Given the description of an element on the screen output the (x, y) to click on. 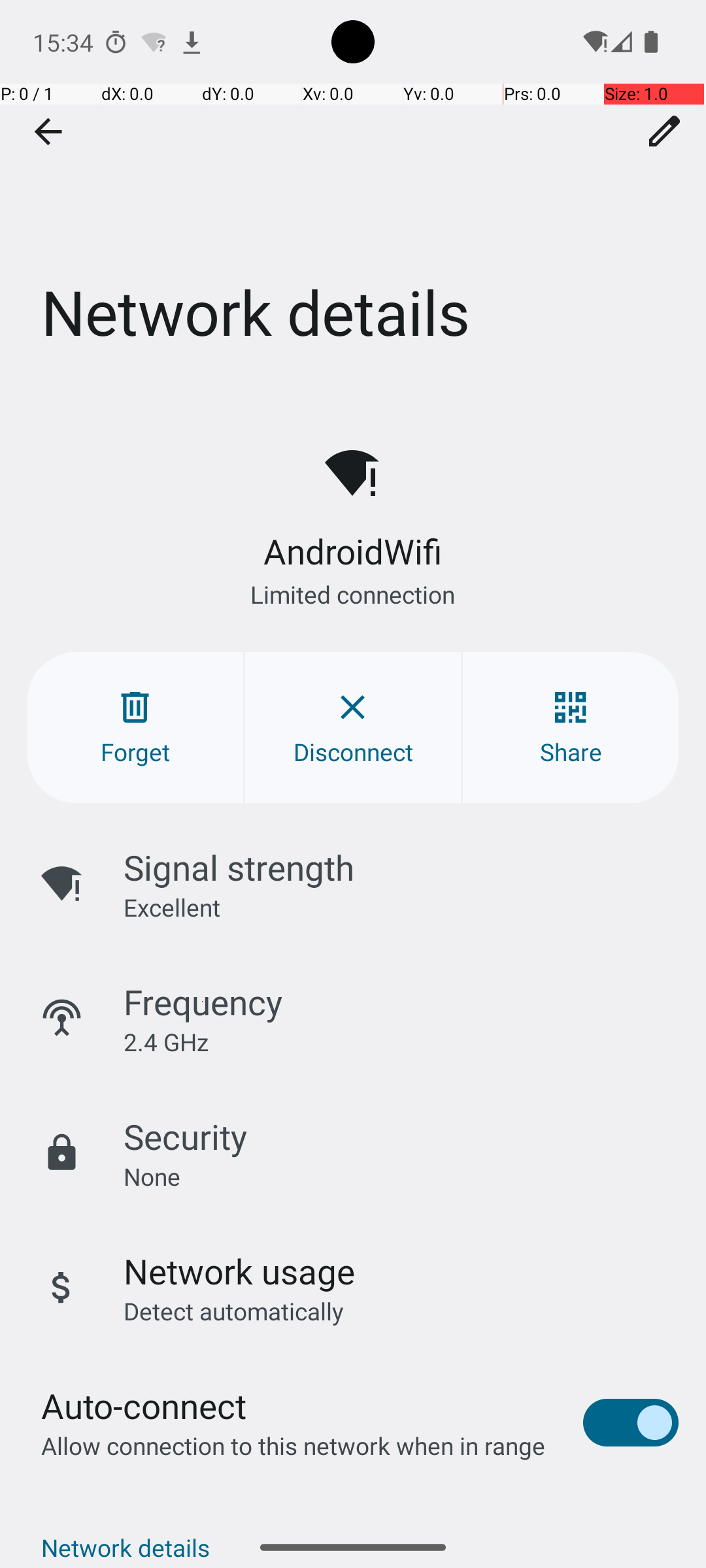
Network details Element type: android.widget.FrameLayout (353, 195)
Modify Element type: android.widget.TextView (664, 131)
AndroidWifi Element type: android.widget.TextView (351, 550)
Limited connection Element type: android.widget.TextView (352, 593)
Forget Element type: android.widget.Button (135, 727)
Disconnect Element type: android.widget.Button (352, 727)
Signal strength Element type: android.widget.TextView (238, 867)
Excellent Element type: android.widget.TextView (171, 906)
Frequency Element type: android.widget.TextView (202, 1001)
2.4 GHz Element type: android.widget.TextView (165, 1041)
Network usage Element type: android.widget.TextView (238, 1270)
Detect automatically Element type: android.widget.TextView (233, 1310)
Auto‑connect Element type: android.widget.TextView (144, 1405)
Allow connection to this network when in range Element type: android.widget.TextView (293, 1445)
